Given the description of an element on the screen output the (x, y) to click on. 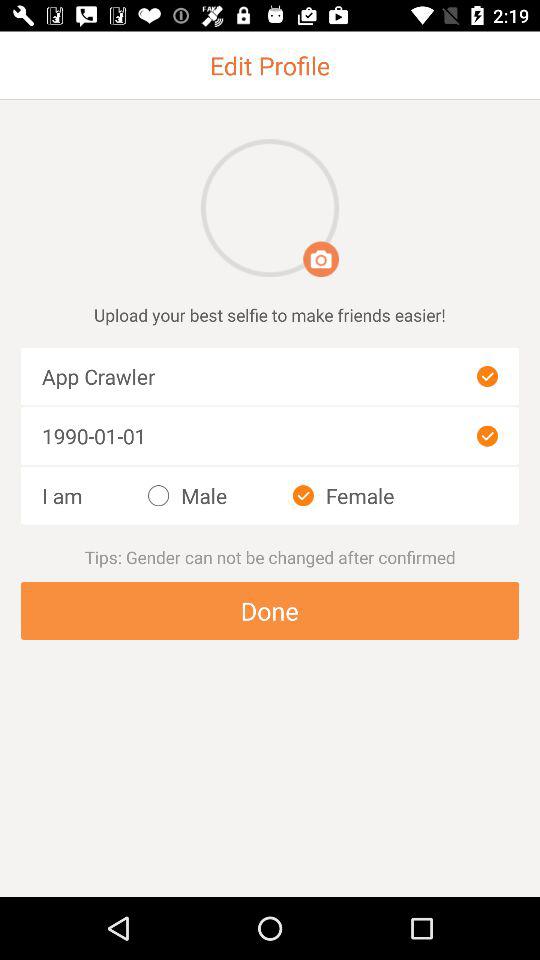
choose male option (186, 495)
icon right to app crawler (486, 376)
tap on the text above the button done (269, 557)
click on circle icon next to 19900101 (486, 435)
click on the button done shown at the bottom of the page (269, 610)
